Given the description of an element on the screen output the (x, y) to click on. 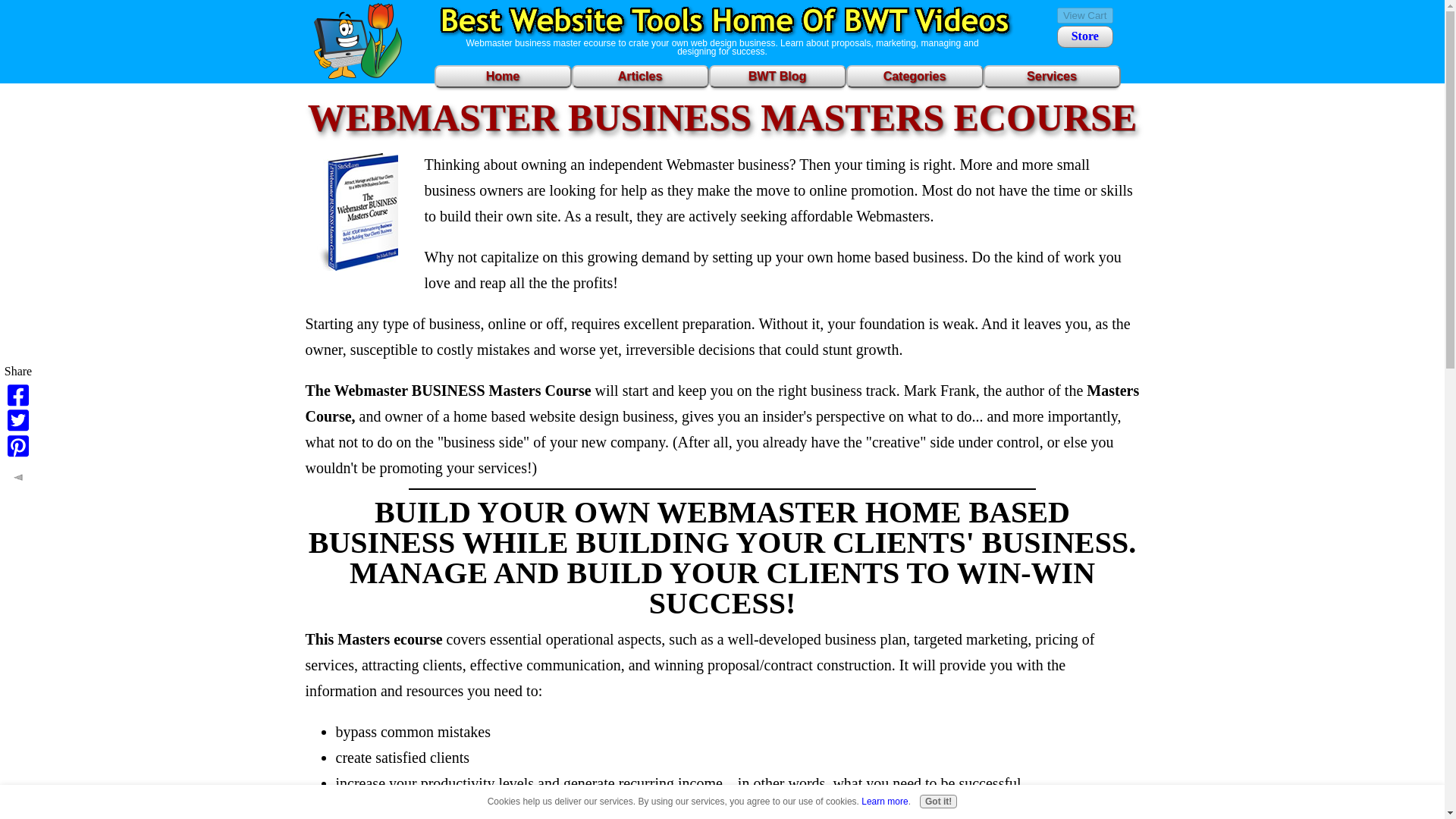
Categories (914, 76)
BWT Blog (776, 76)
Store (1085, 36)
Video Services (1050, 76)
View Cart (1085, 15)
Articles (640, 76)
Services (1050, 76)
Home (501, 76)
Go to Home page (501, 76)
